Given the description of an element on the screen output the (x, y) to click on. 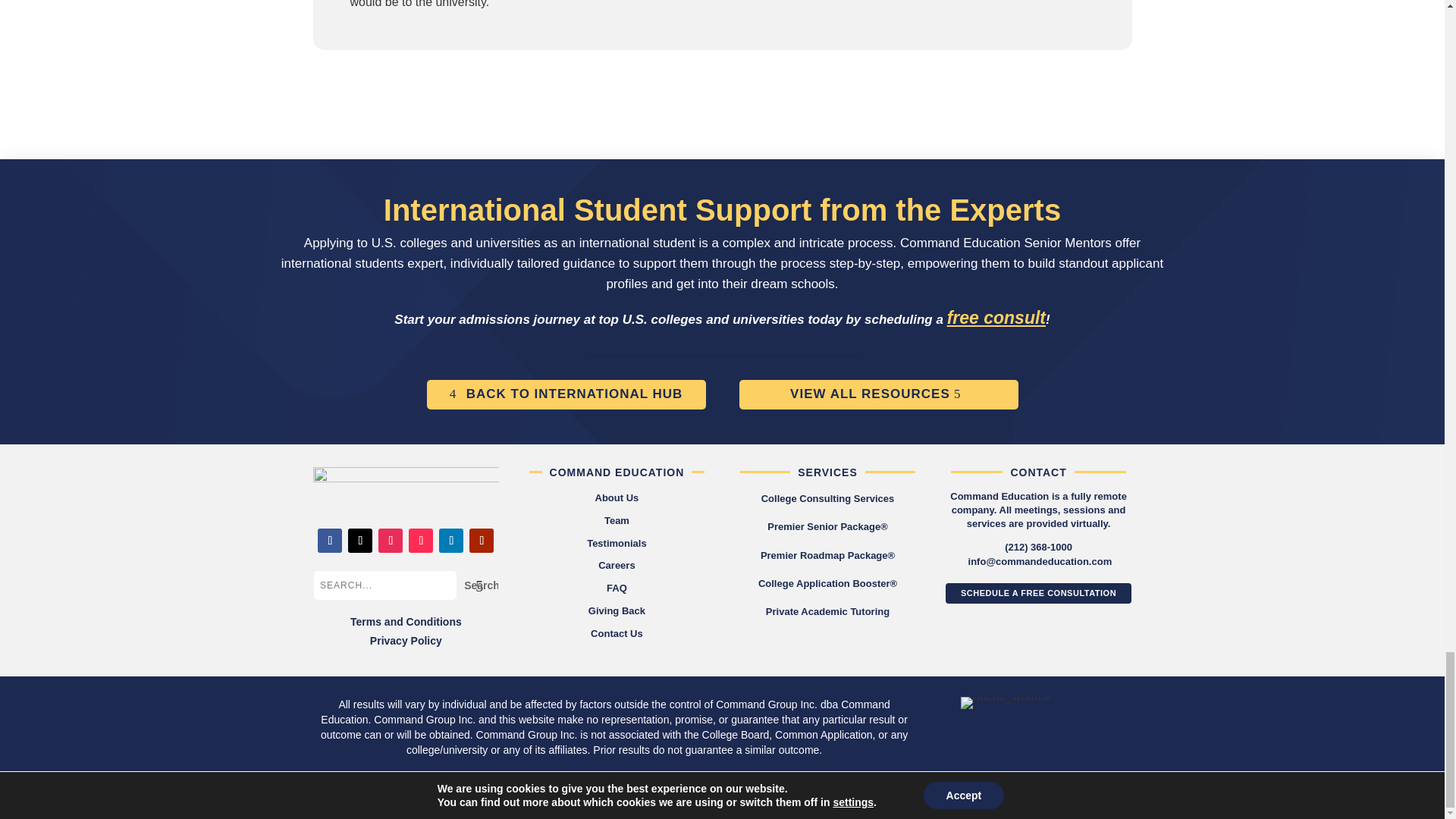
NACAC (1005, 702)
Follow on Youtube (480, 540)
Follow on Facebook (329, 540)
Follow on TikTok (420, 540)
Follow on Twitter (359, 540)
Search (477, 584)
Search (477, 584)
Follow on LinkedIn (451, 540)
Follow on Instagram (390, 540)
